Given the description of an element on the screen output the (x, y) to click on. 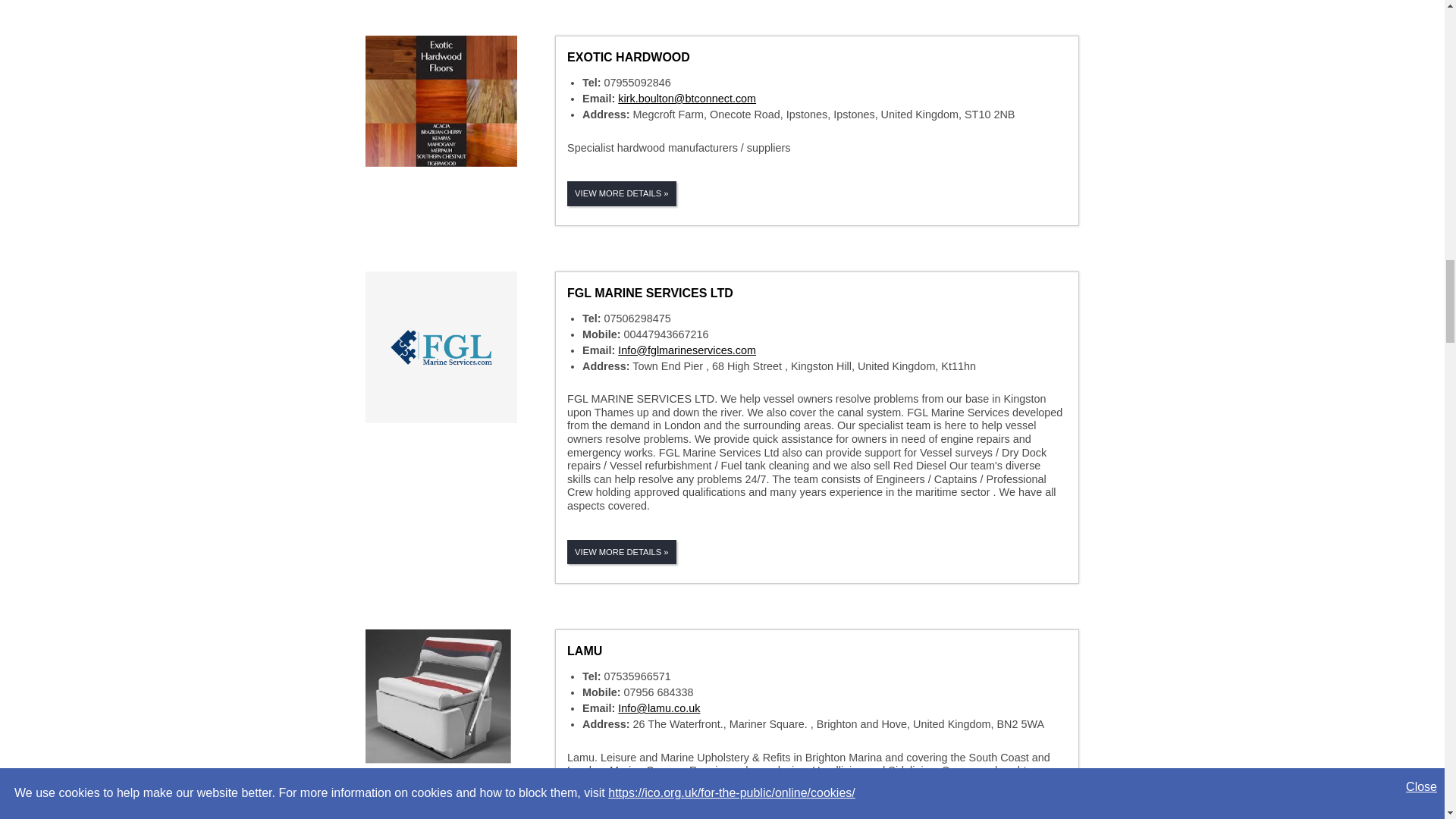
LAMU (584, 650)
FGL MARINE SERVICES LTD (650, 292)
EXOTIC HARDWOOD (628, 56)
